Given the description of an element on the screen output the (x, y) to click on. 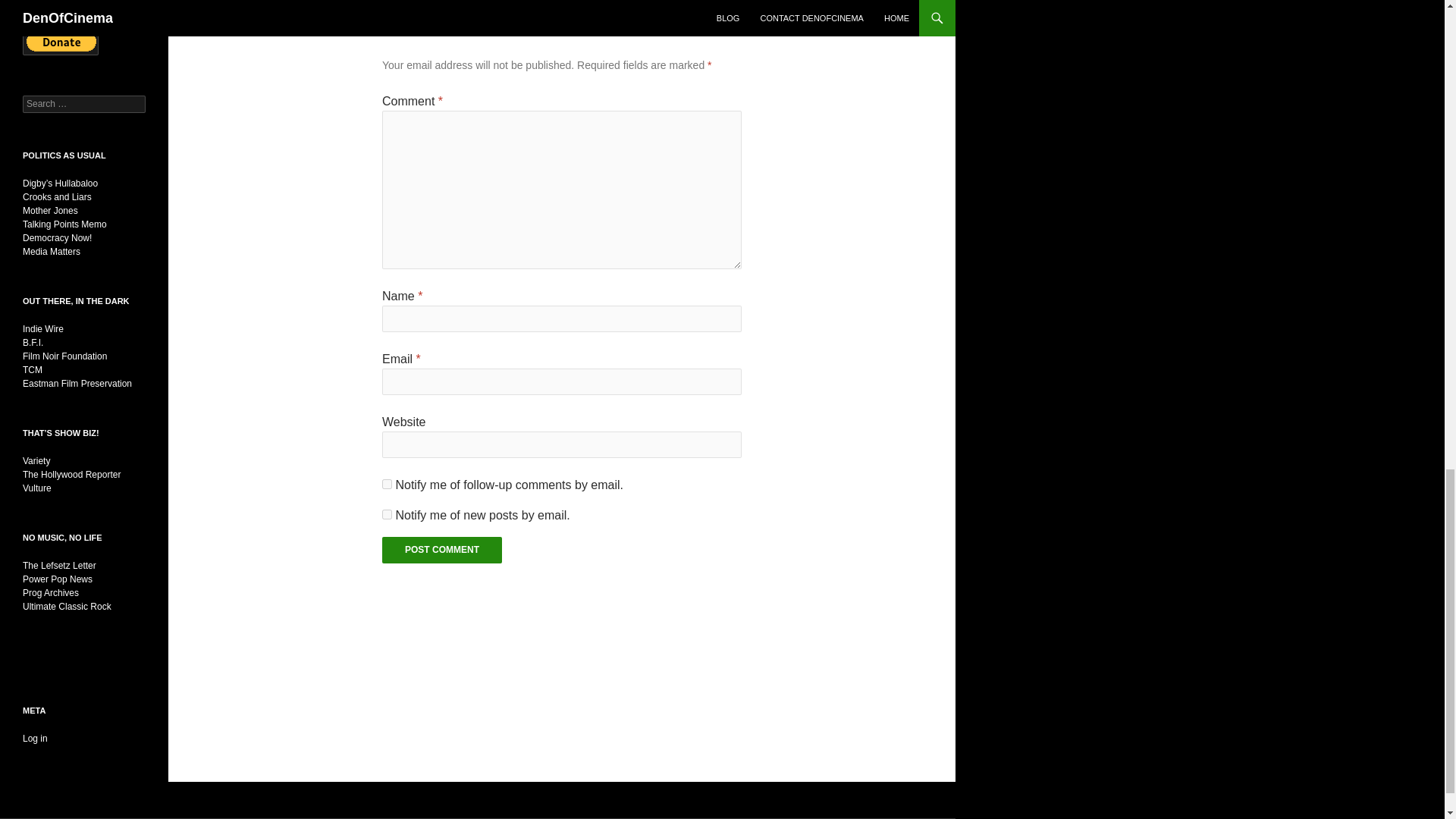
Post Comment (441, 550)
subscribe (386, 483)
subscribe (386, 514)
Post Comment (441, 550)
